Given the description of an element on the screen output the (x, y) to click on. 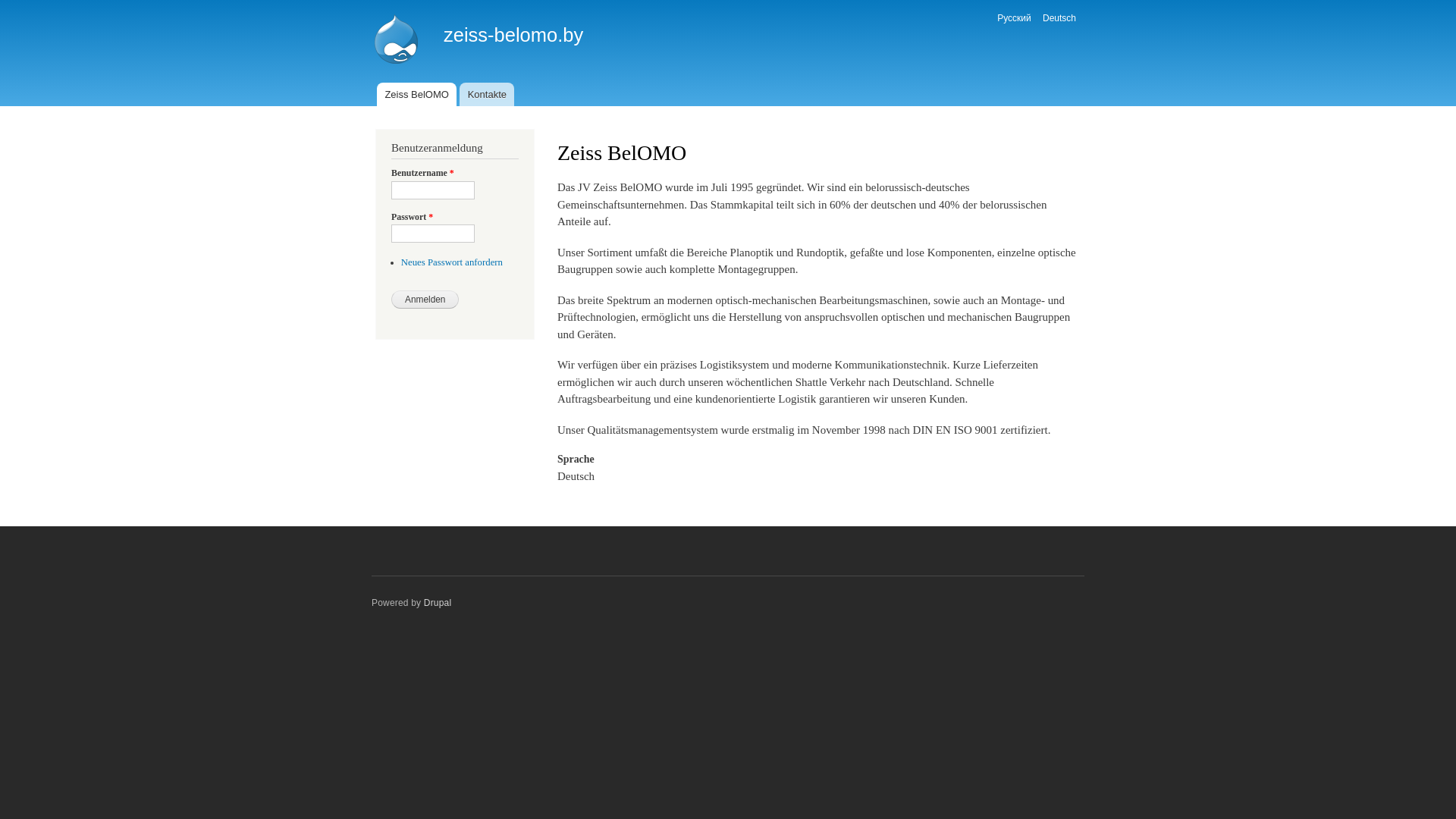
zeiss-belomo.by Element type: text (513, 34)
Neues Passwort anfordern Element type: text (451, 262)
Kontakte Element type: text (486, 94)
Anmelden Element type: text (424, 299)
Zeiss BelOMO Element type: text (416, 94)
Drupal Element type: text (437, 602)
Startseite Element type: hover (398, 41)
Deutsch Element type: text (1059, 17)
Direkt zum Inhalt Element type: text (691, 1)
